Given the description of an element on the screen output the (x, y) to click on. 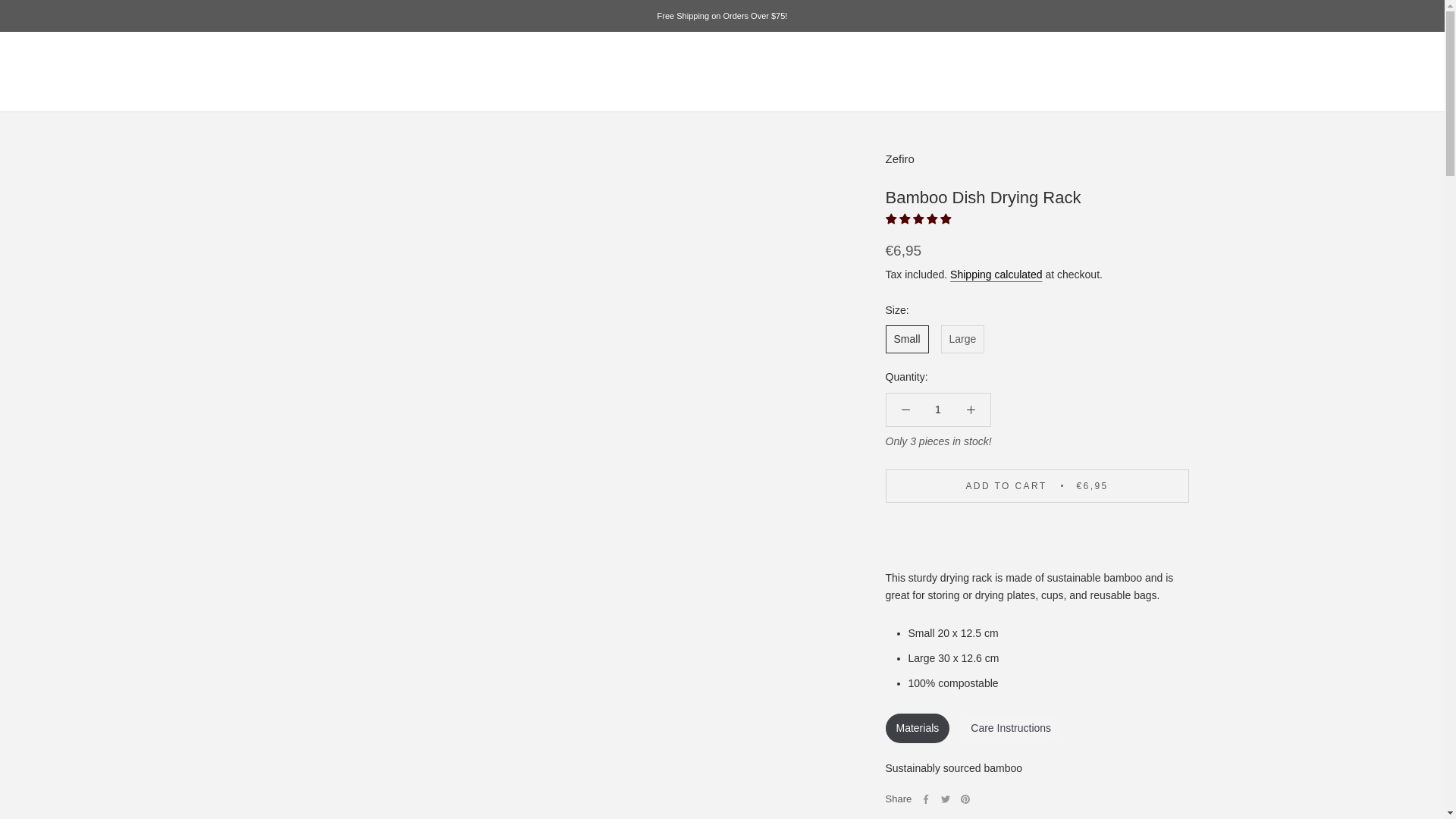
1 (938, 409)
